Given the description of an element on the screen output the (x, y) to click on. 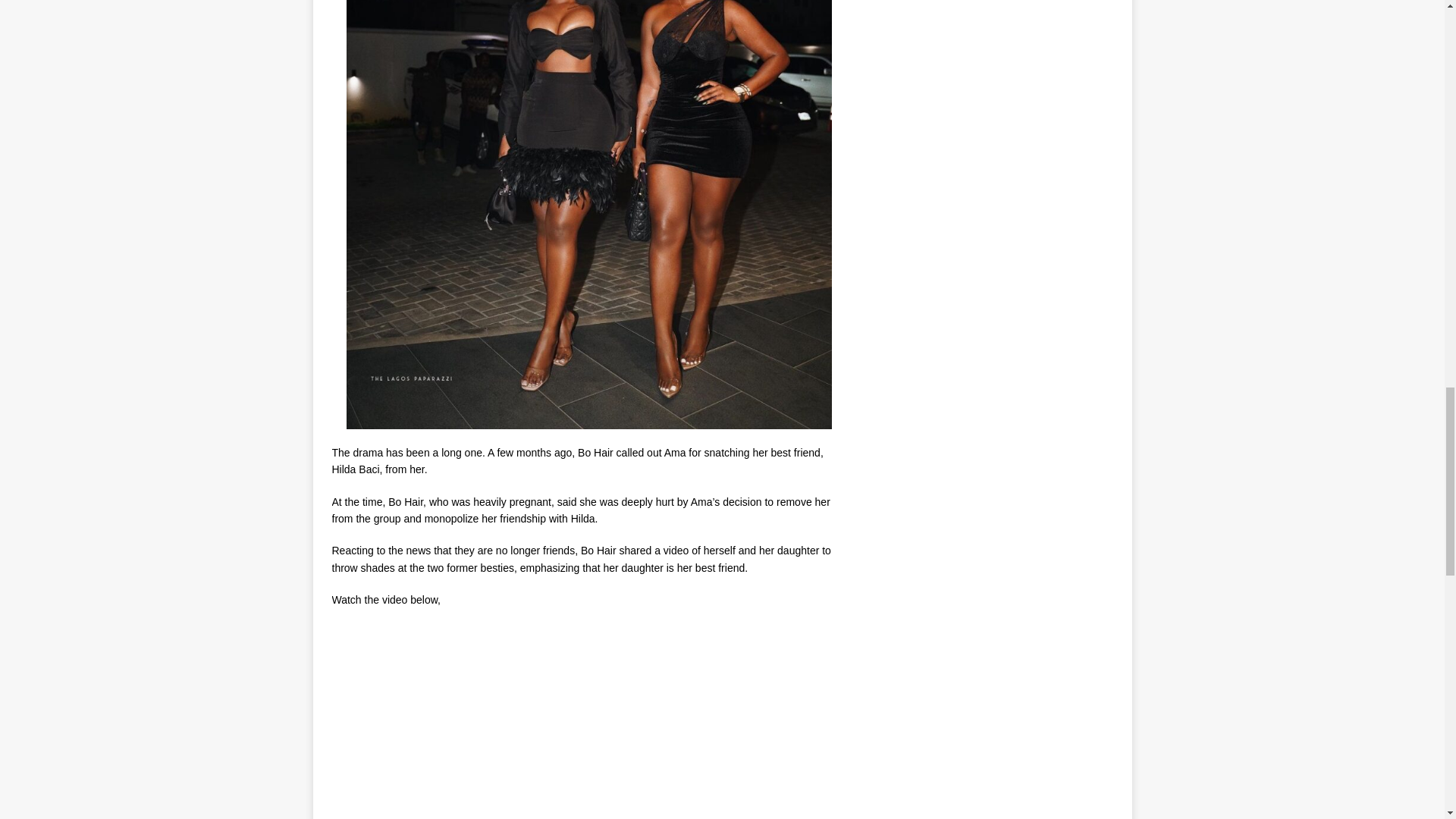
VideoPress Video Player (443, 721)
